Given the description of an element on the screen output the (x, y) to click on. 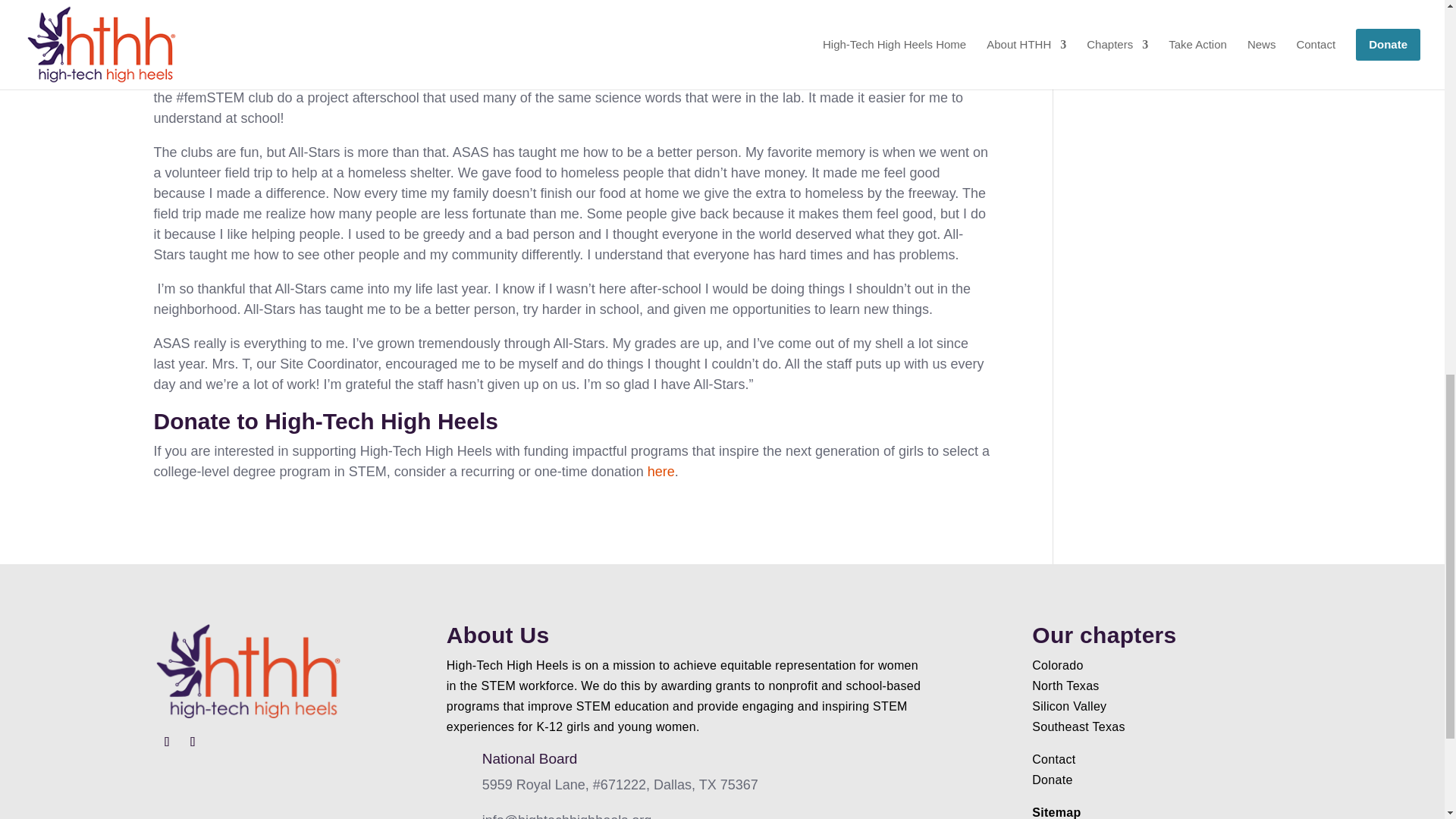
here (661, 471)
